Given the description of an element on the screen output the (x, y) to click on. 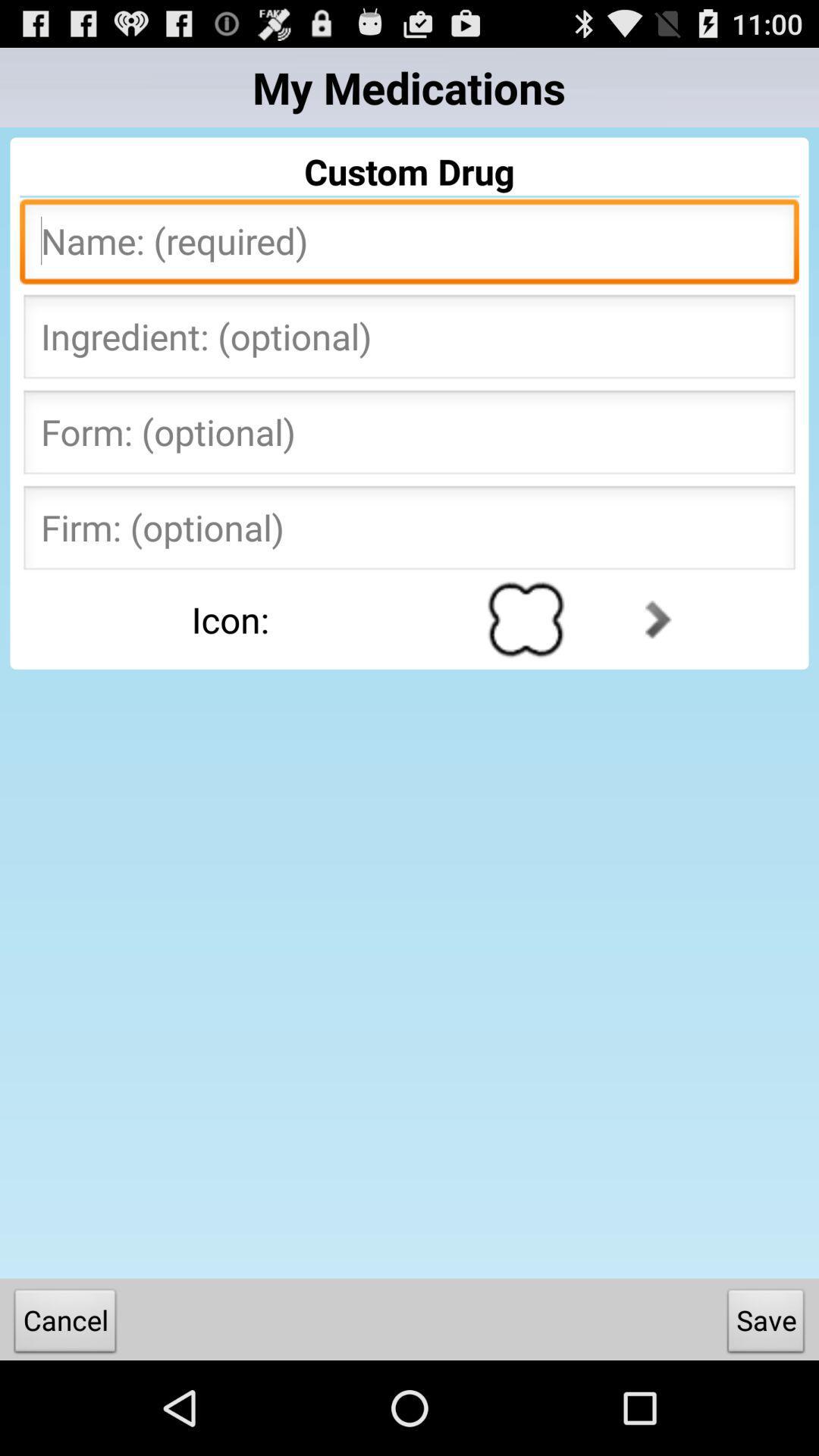
press the button next to the save item (65, 1324)
